Given the description of an element on the screen output the (x, y) to click on. 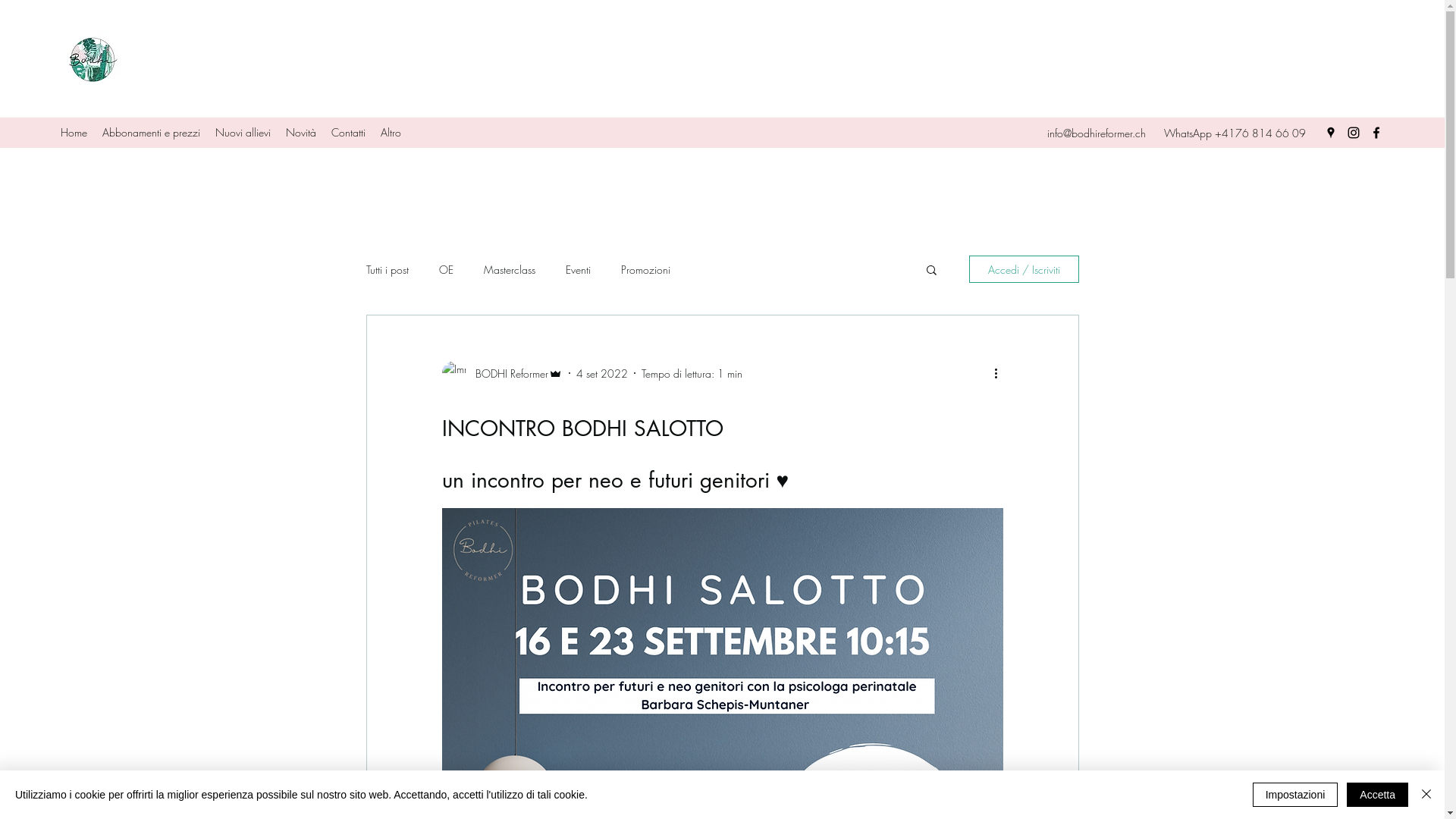
Nuovi allievi Element type: text (242, 132)
OE Element type: text (445, 269)
info@bodhireformer.ch Element type: text (1096, 132)
Abbonamenti e prezzi Element type: text (150, 132)
Tutti i post Element type: text (386, 269)
Home Element type: text (73, 132)
Contatti Element type: text (348, 132)
Impostazioni Element type: text (1295, 794)
Masterclass Element type: text (509, 269)
Accetta Element type: text (1377, 794)
Promozioni Element type: text (644, 269)
Eventi Element type: text (577, 269)
Accedi / Iscriviti Element type: text (1024, 268)
